Given the description of an element on the screen output the (x, y) to click on. 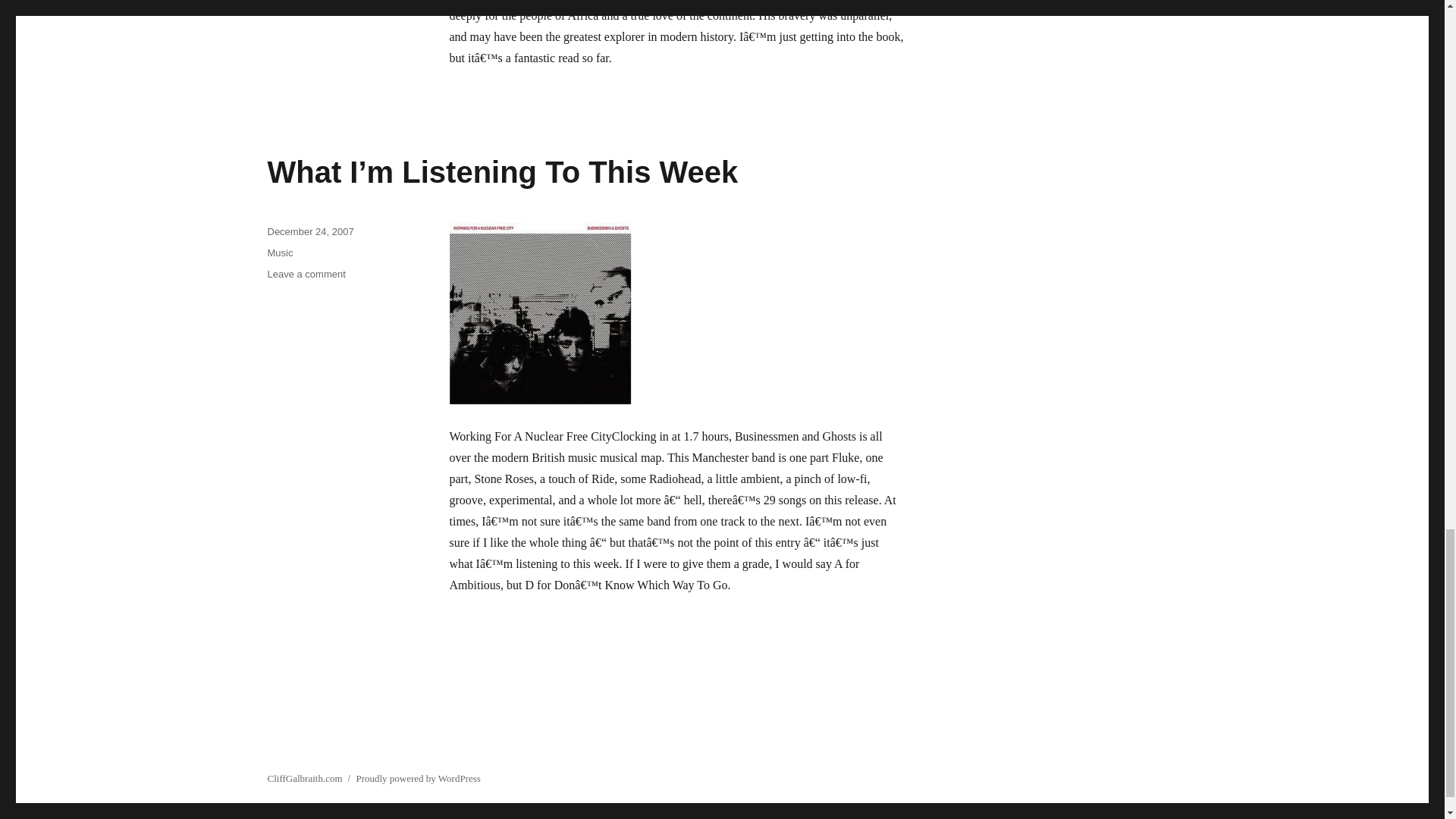
December 24, 2007 (309, 231)
Music (279, 252)
